Given the description of an element on the screen output the (x, y) to click on. 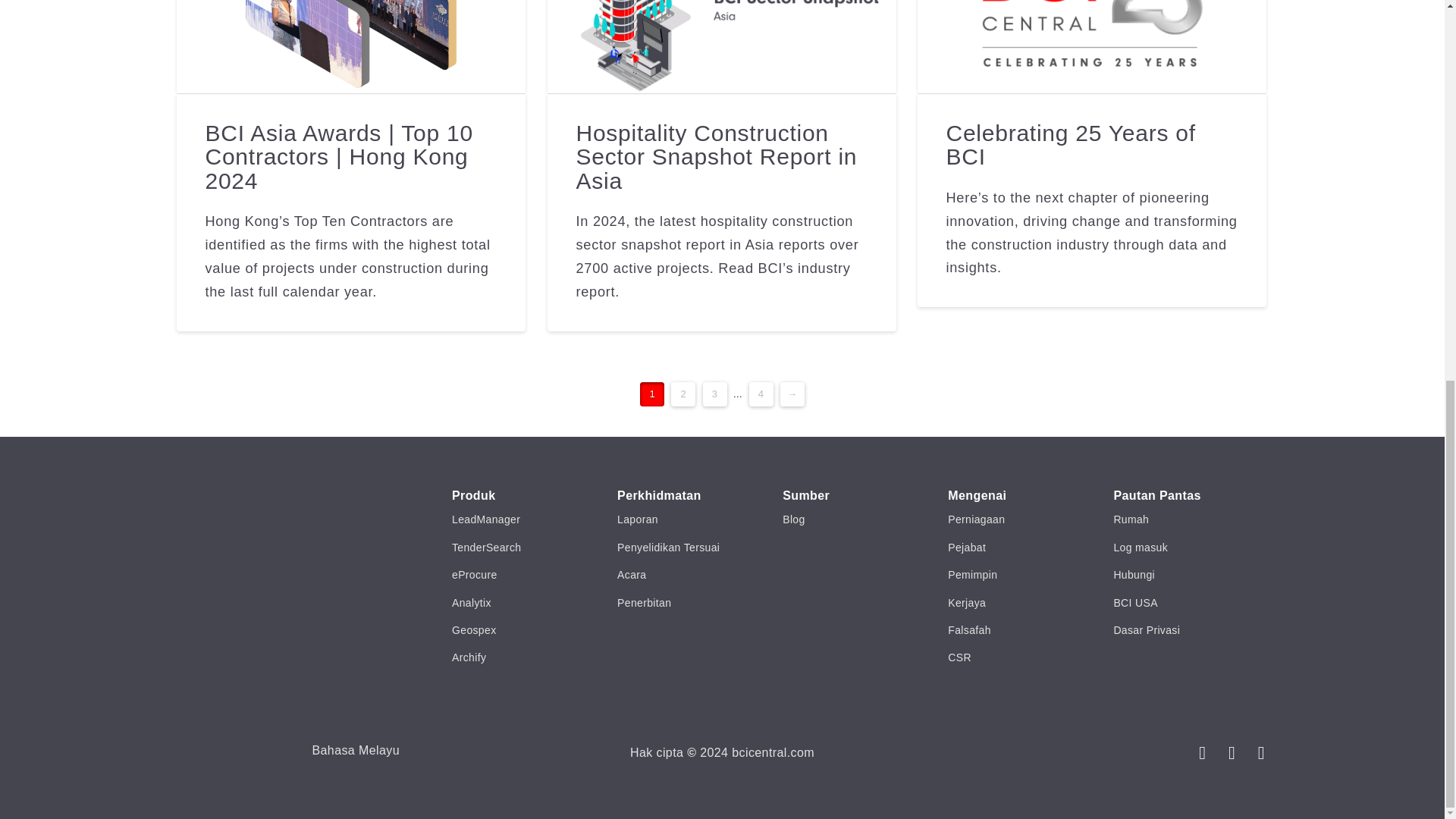
3 (713, 394)
Celebrating 25 Years of BCI (1069, 144)
Bahasa Melayu (355, 750)
2 (683, 394)
3 (713, 394)
Muka surat terakhir (761, 394)
Permalink to: "Celebrating 25 Years of BCI" (1091, 46)
2 (683, 394)
Hospitality Construction Sector Snapshot Report in Asia (716, 156)
Permalink to: "Celebrating 25 Years of BCI" (1069, 144)
